Given the description of an element on the screen output the (x, y) to click on. 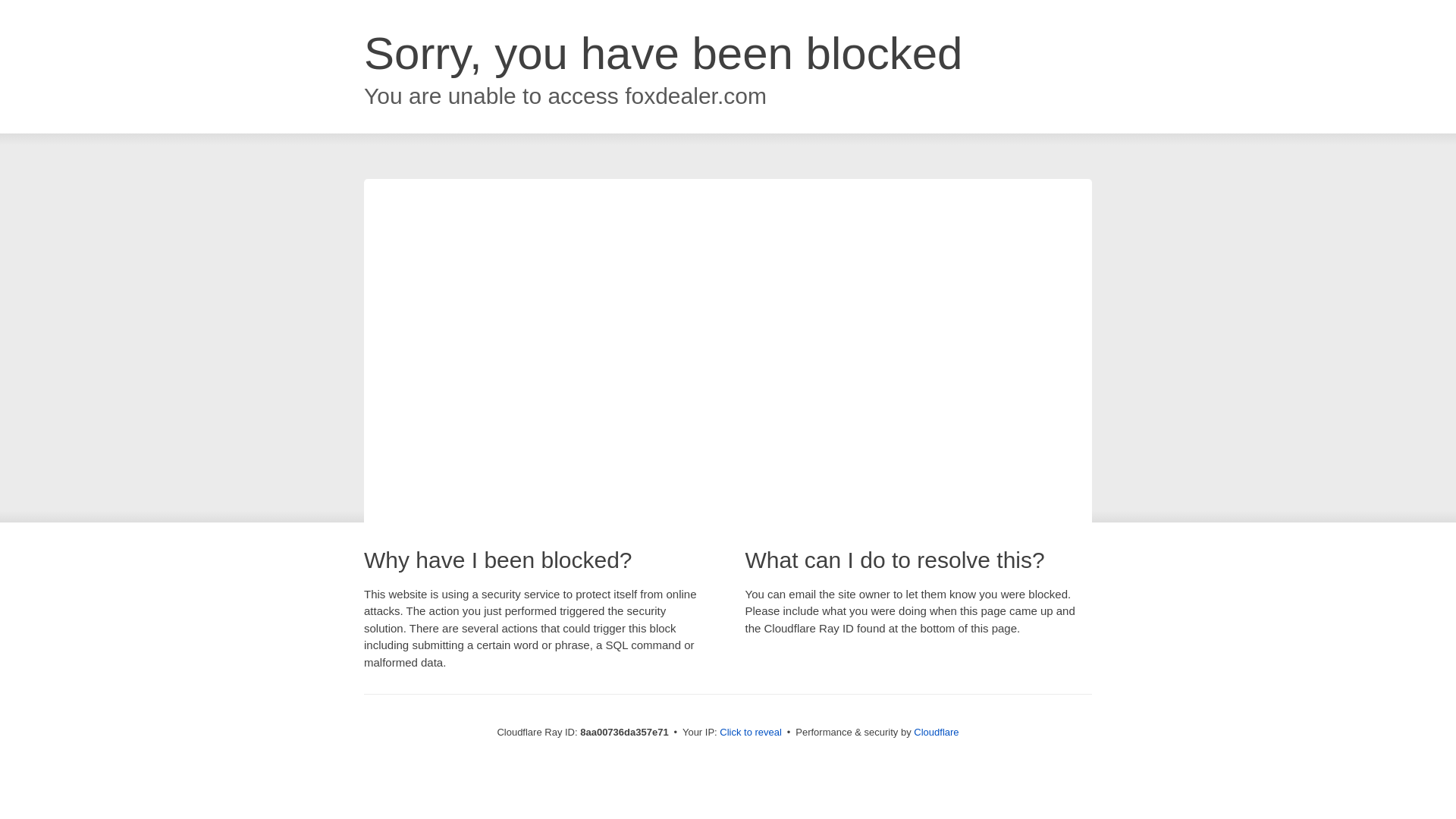
Click to reveal (750, 732)
Cloudflare (936, 731)
